Given the description of an element on the screen output the (x, y) to click on. 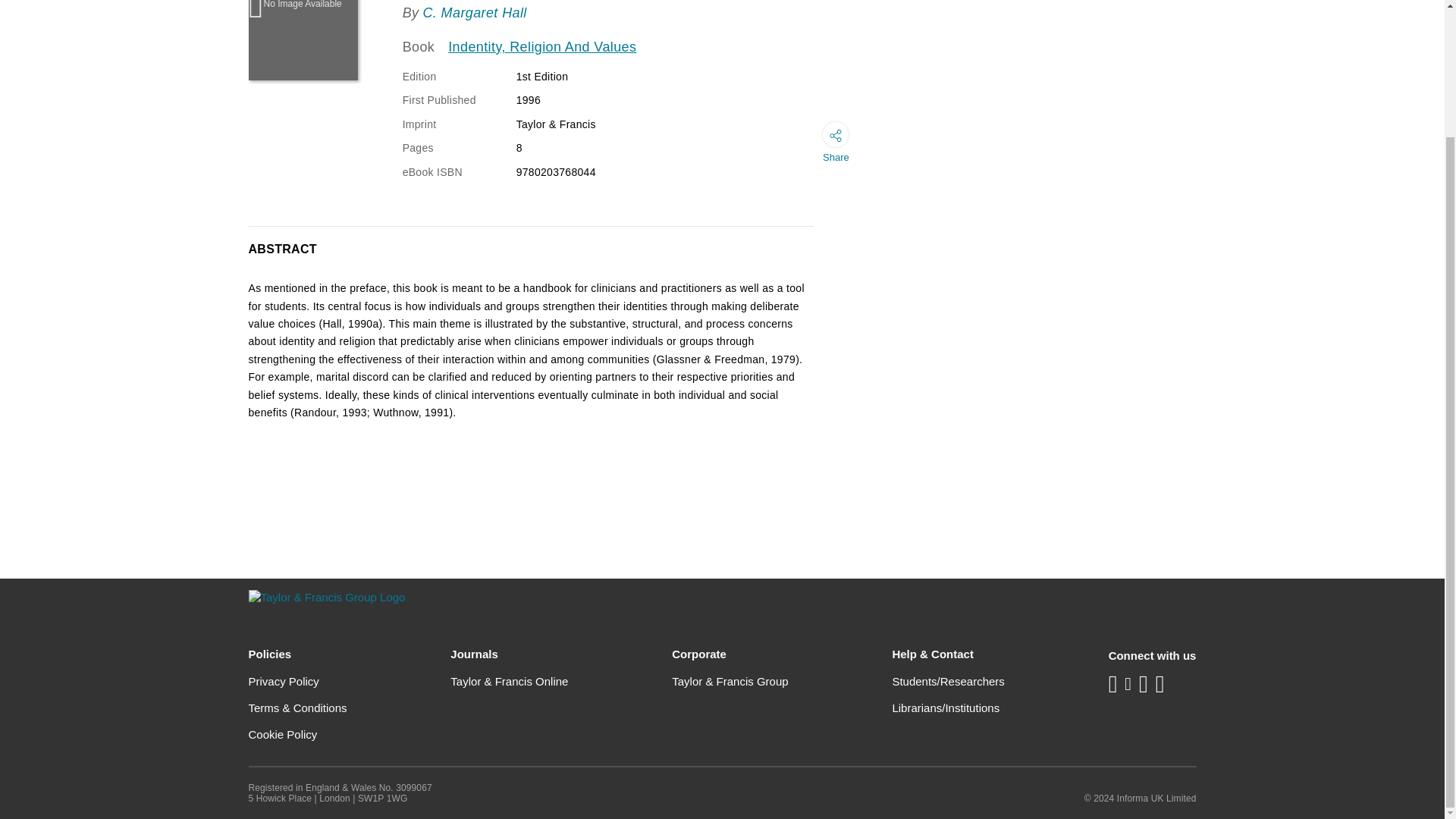
Indentity, Religion And Values (542, 47)
Privacy Policy (283, 681)
C. Margaret Hall (473, 12)
Cookie Policy (282, 734)
